Given the description of an element on the screen output the (x, y) to click on. 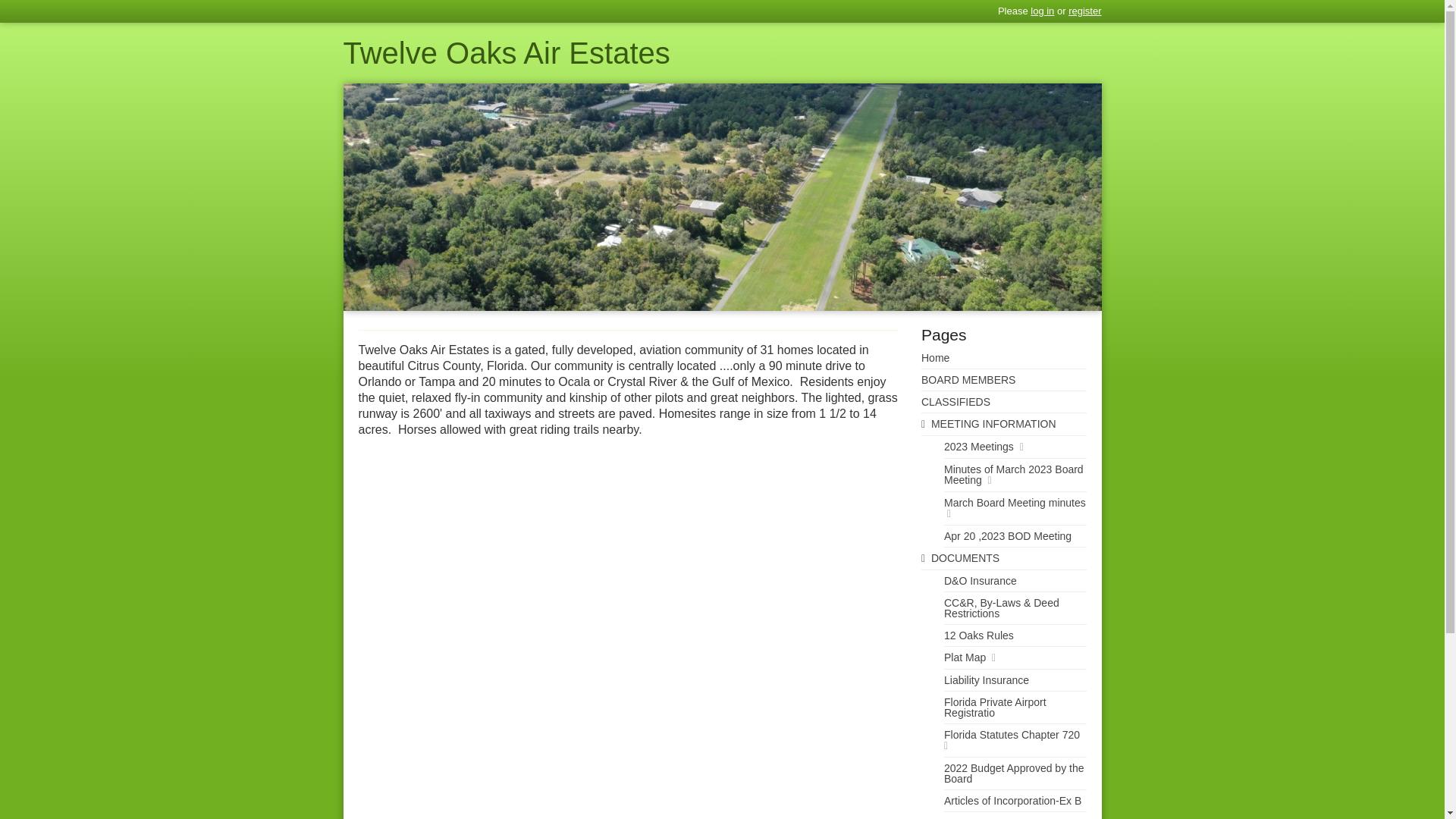
register Element type: text (1084, 10)
log in Element type: text (1042, 10)
Minutes of March 2023 Board Meeting   Element type: text (1003, 475)
Twelve Oaks Air Estates Element type: text (721, 52)
  MEETING INFORMATION Element type: text (1003, 424)
March Board Meeting minutes   Element type: text (1003, 508)
Home Element type: text (1003, 358)
Articles of Incorporation-Ex B Element type: text (1003, 801)
CLASSIFIEDS Element type: text (1003, 402)
Plat Map   Element type: text (1003, 657)
Apr 20 ,2023 BOD Meeting Element type: text (1003, 536)
2023 Meetings   Element type: text (1003, 447)
  DOCUMENTS Element type: text (1003, 558)
CC&R, By-Laws & Deed Restrictions Element type: text (1003, 608)
BOARD MEMBERS Element type: text (1003, 380)
12 Oaks Rules Element type: text (1003, 635)
Florida Private Airport Registratio Element type: text (1003, 707)
Liability Insurance Element type: text (1003, 680)
2022 Budget Approved by the Board Element type: text (1003, 773)
D&O Insurance Element type: text (1003, 581)
Florida Statutes Chapter 720   Element type: text (1003, 740)
